Given the description of an element on the screen output the (x, y) to click on. 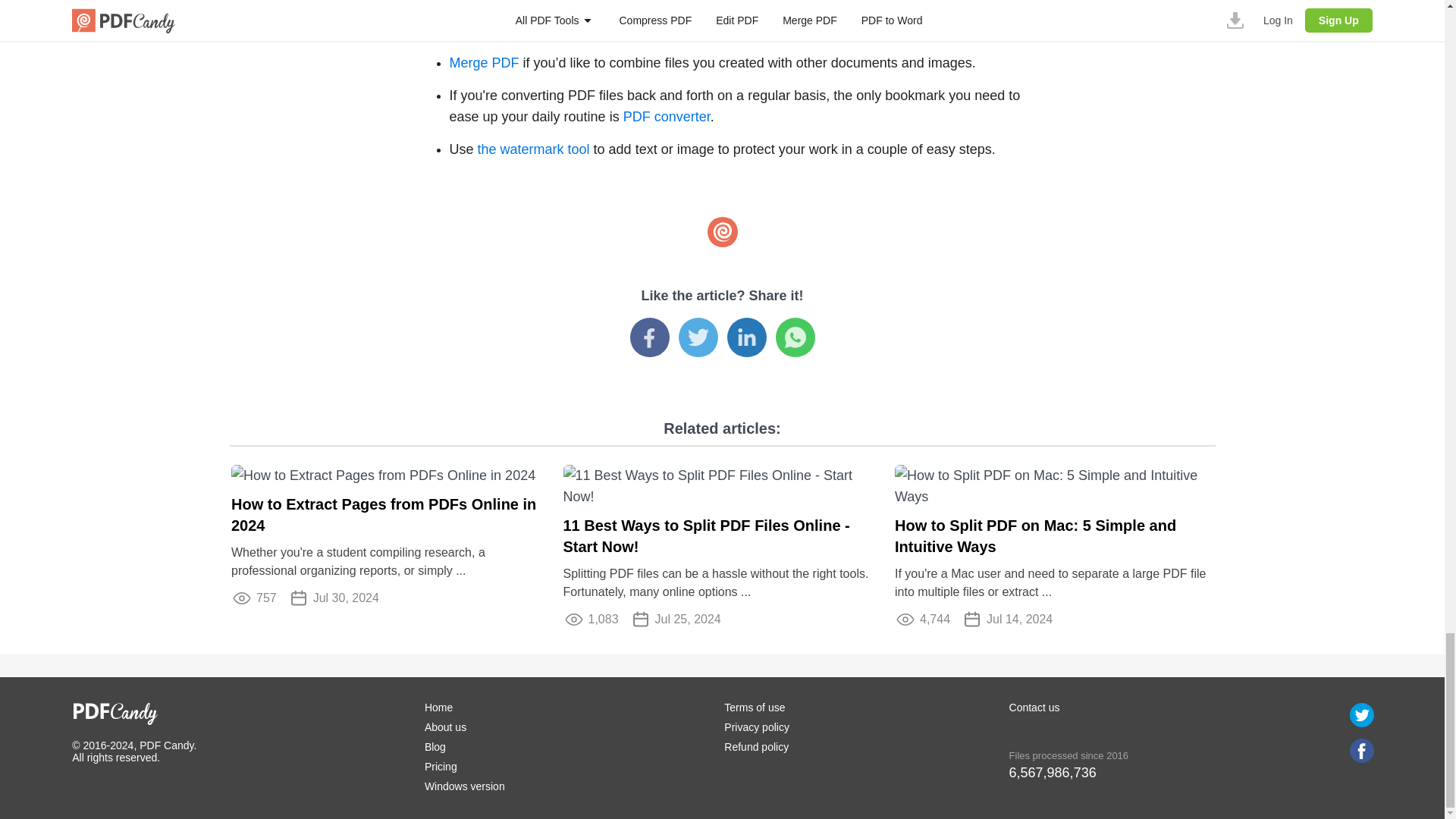
Share on Facebook (648, 337)
Share on LinkedIn (745, 337)
Share on WhatsApp (793, 337)
Share on Twitter (697, 337)
